Given the description of an element on the screen output the (x, y) to click on. 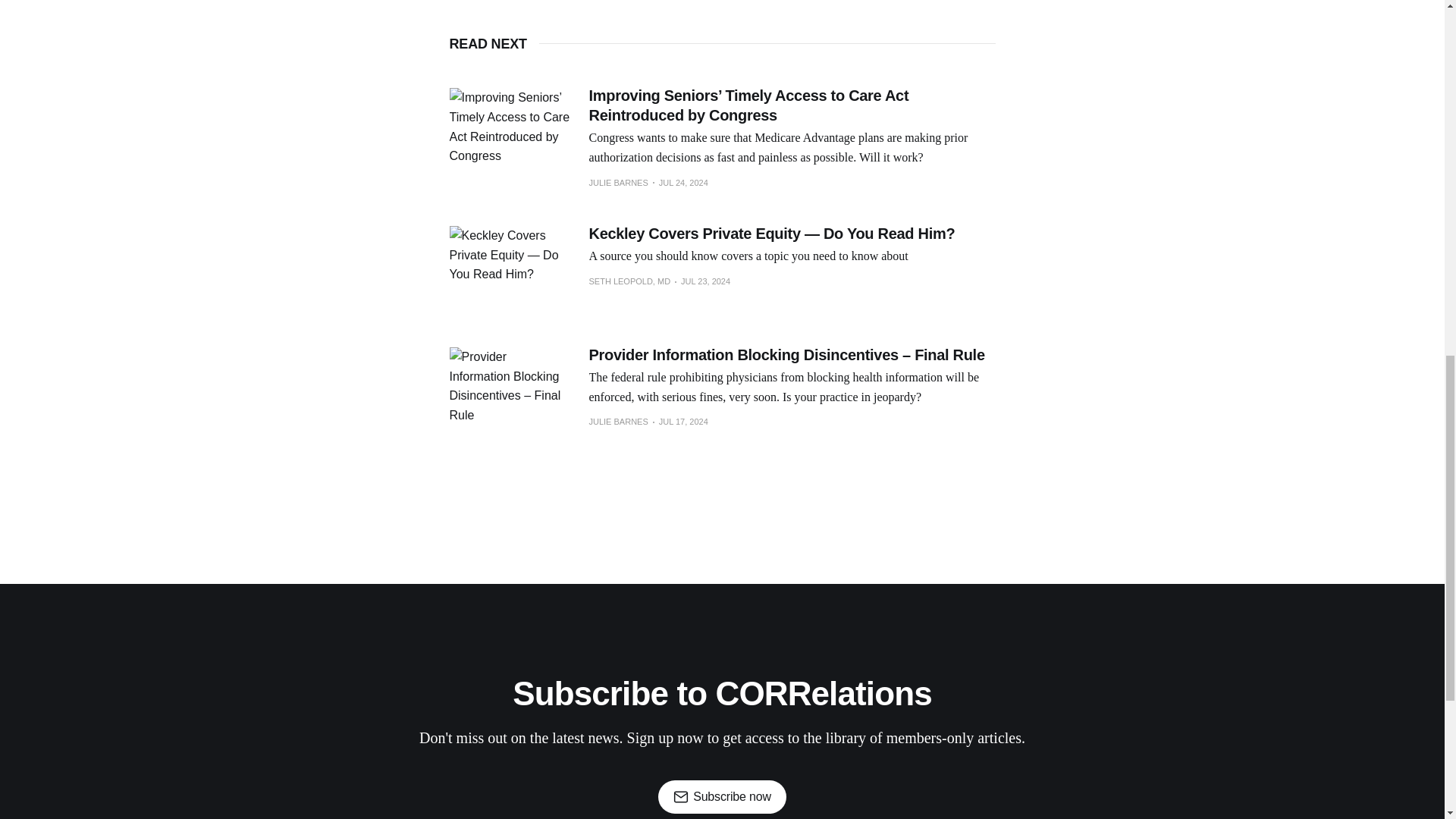
Subscribe now (722, 797)
